Given the description of an element on the screen output the (x, y) to click on. 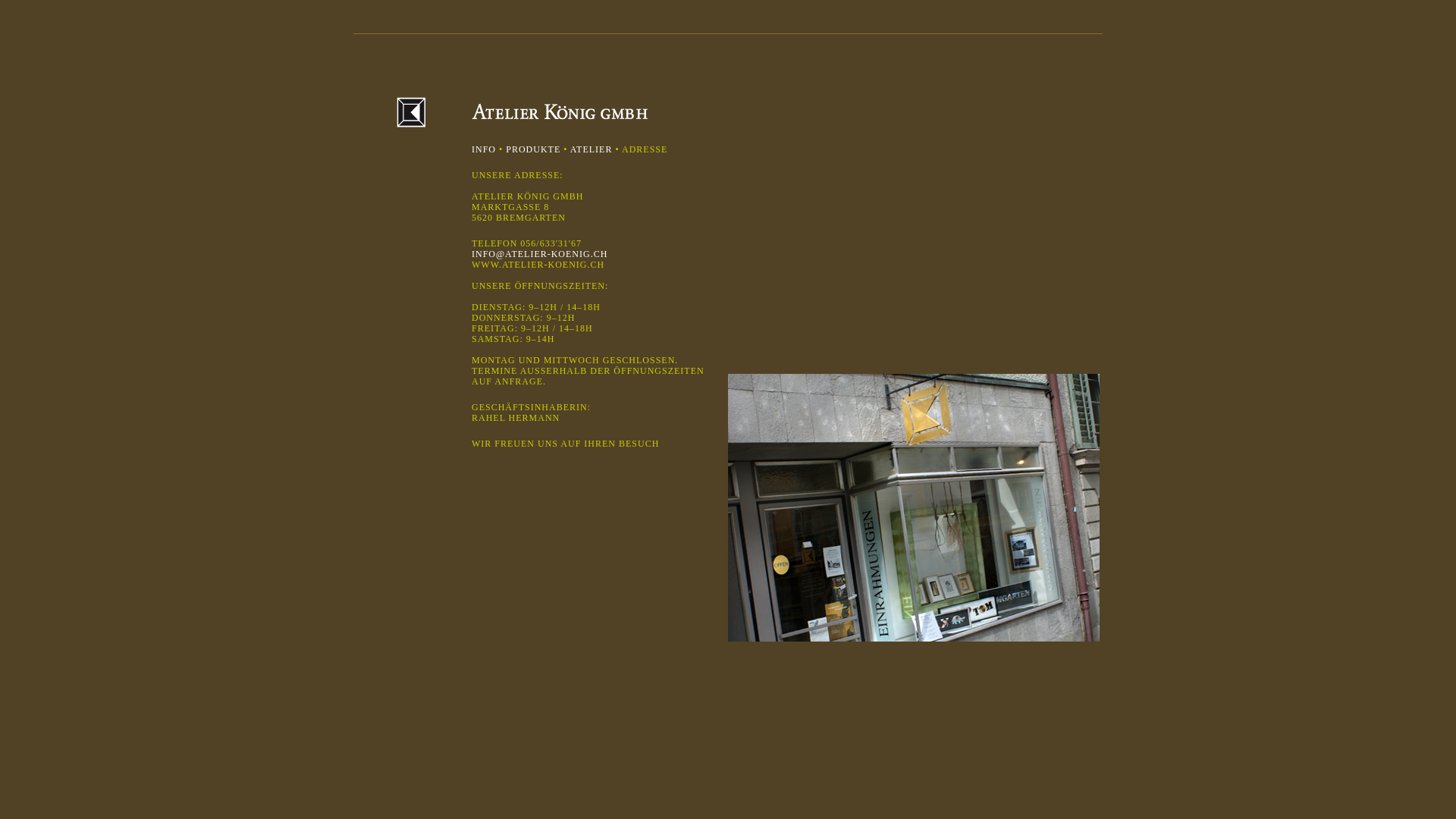
PRODUKTE Element type: text (532, 149)
INFO Element type: text (483, 149)
ATELIER Element type: text (592, 149)
INFO@ATELIER-KOENIG.CH Element type: text (539, 253)
